Given the description of an element on the screen output the (x, y) to click on. 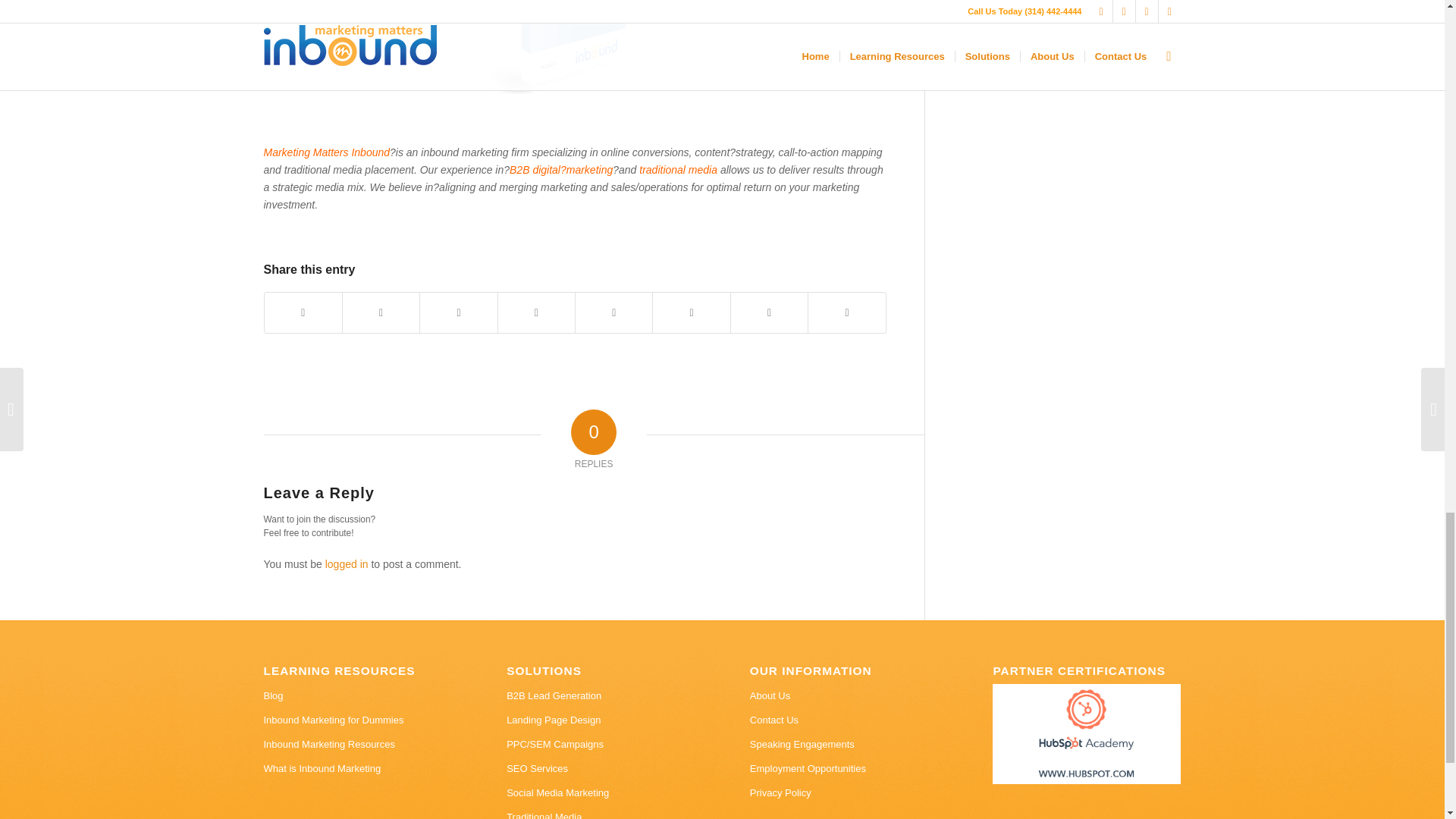
B2B digital?marketing (560, 169)
traditional media (679, 169)
Marketing Matters Inbound (326, 152)
logged in (346, 563)
